Given the description of an element on the screen output the (x, y) to click on. 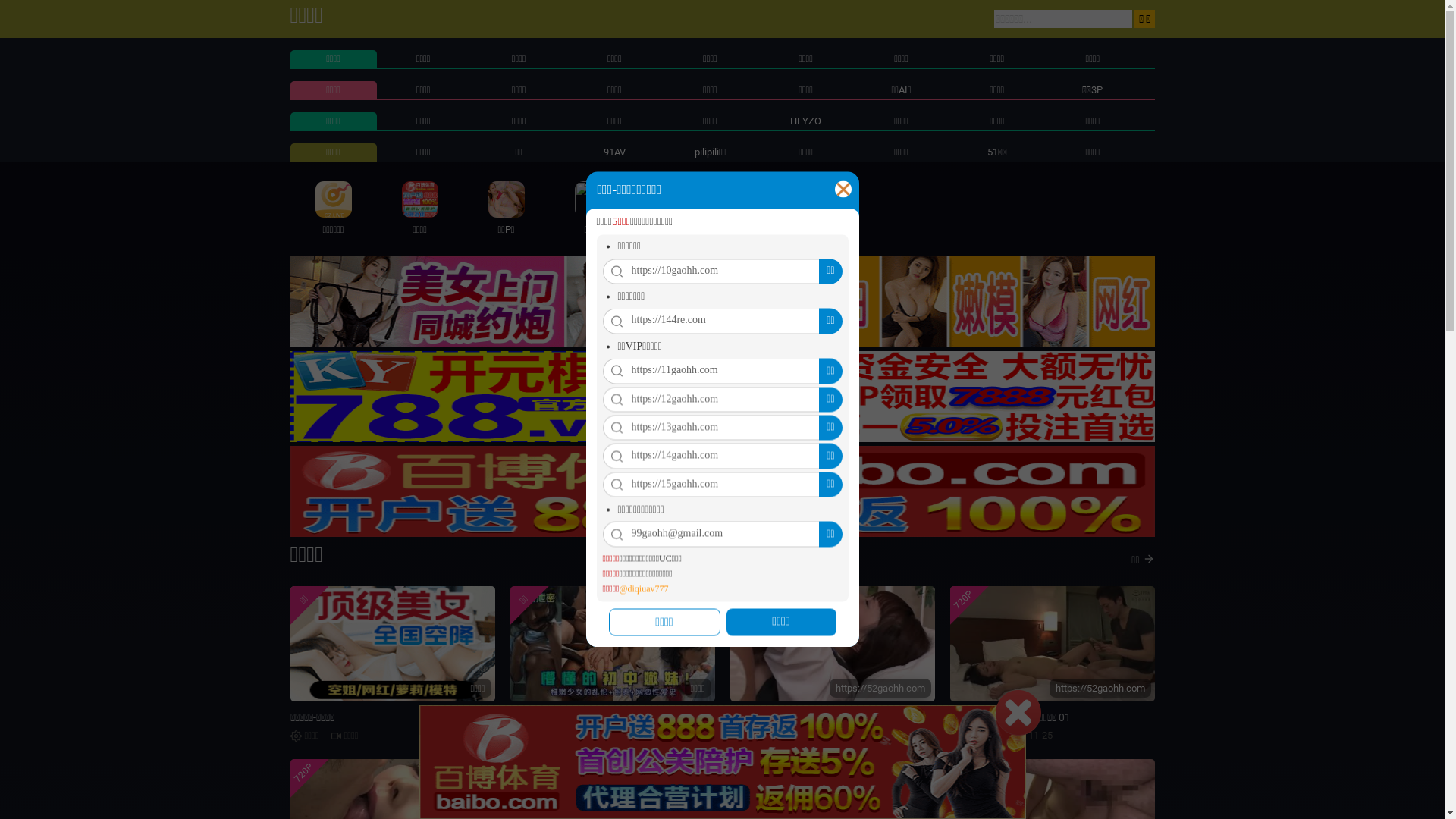
720P
https://52gaohh.com Element type: text (1051, 643)
91AV Element type: text (614, 151)
HEYZO Element type: text (805, 120)
720P
https://52gaohh.com Element type: text (831, 643)
@diqiuav777 Element type: text (643, 589)
